Given the description of an element on the screen output the (x, y) to click on. 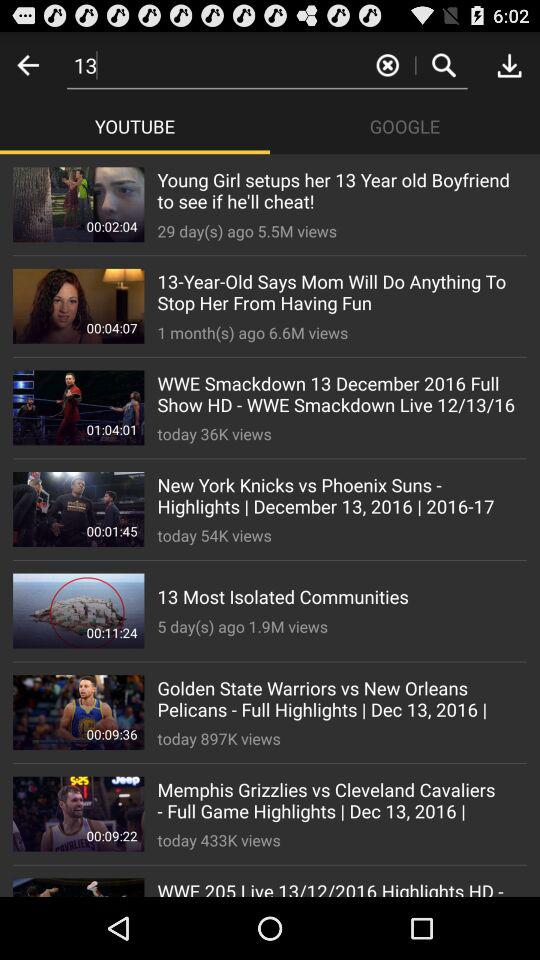
search (443, 64)
